Given the description of an element on the screen output the (x, y) to click on. 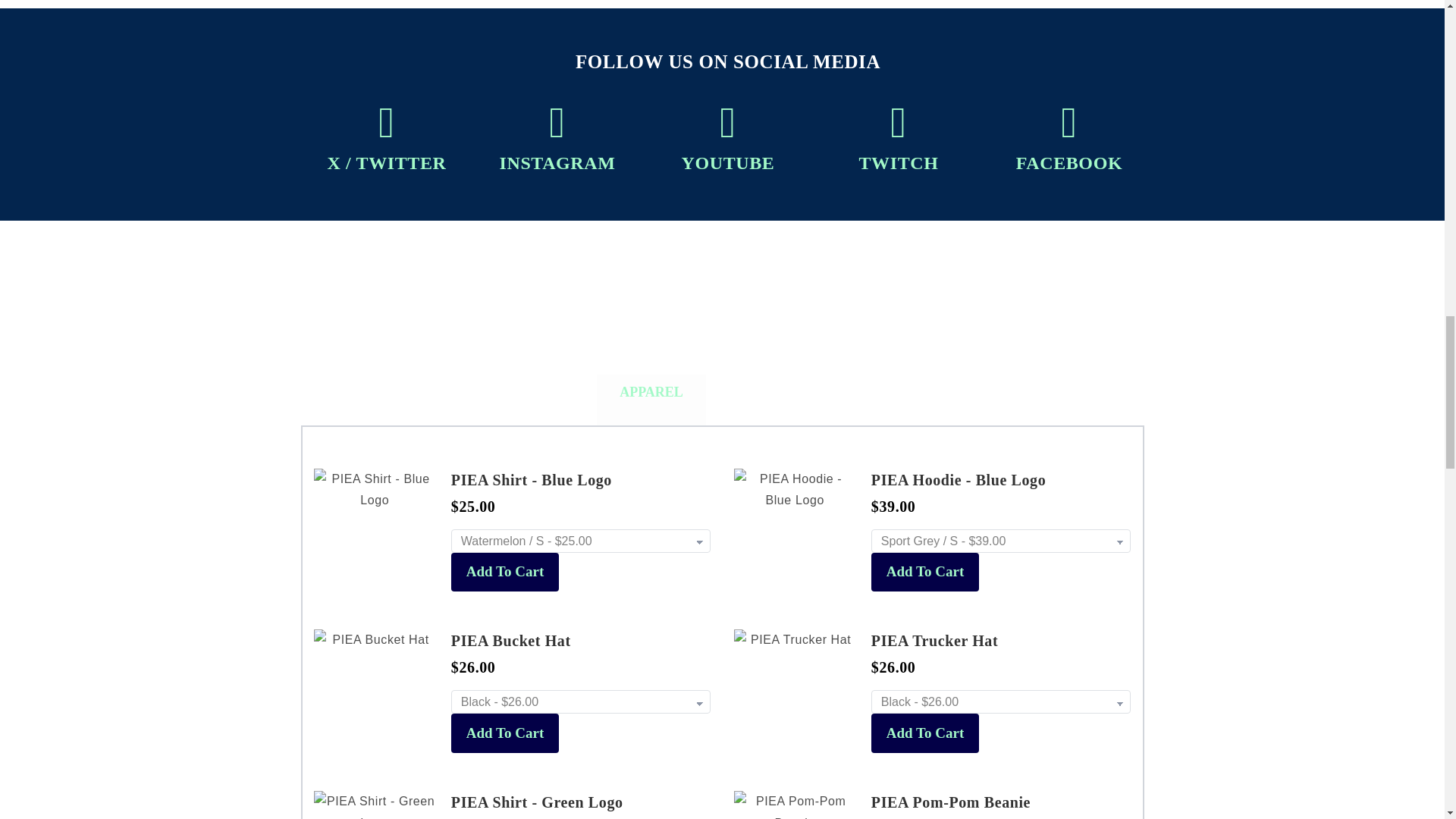
TWITCH (899, 162)
YOUTUBE (727, 162)
INSTAGRAM (557, 162)
